Given the description of an element on the screen output the (x, y) to click on. 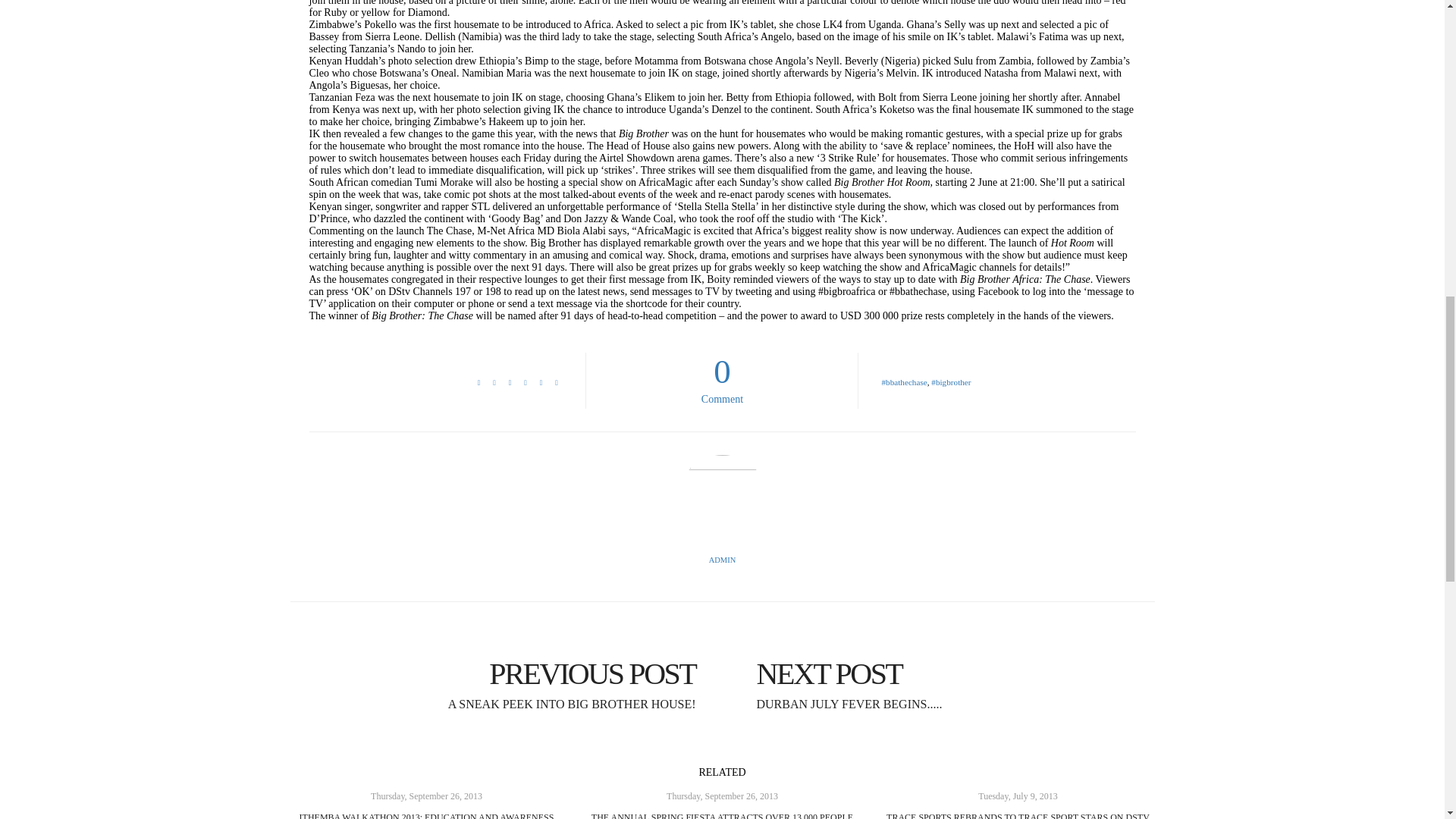
A SNEAK PEEK INTO BIG BROTHER HOUSE! (499, 672)
ADMIN (721, 378)
TRACE SPORTS REBRANDS TO TRACE SPORT STARS ON DSTV (722, 560)
THE ANNUAL SPRING FIESTA ATTRACTS OVER 13 000 PEOPLE (1018, 815)
Posts by admin (722, 815)
DURBAN JULY FEVER BEGINS..... (722, 560)
